Given the description of an element on the screen output the (x, y) to click on. 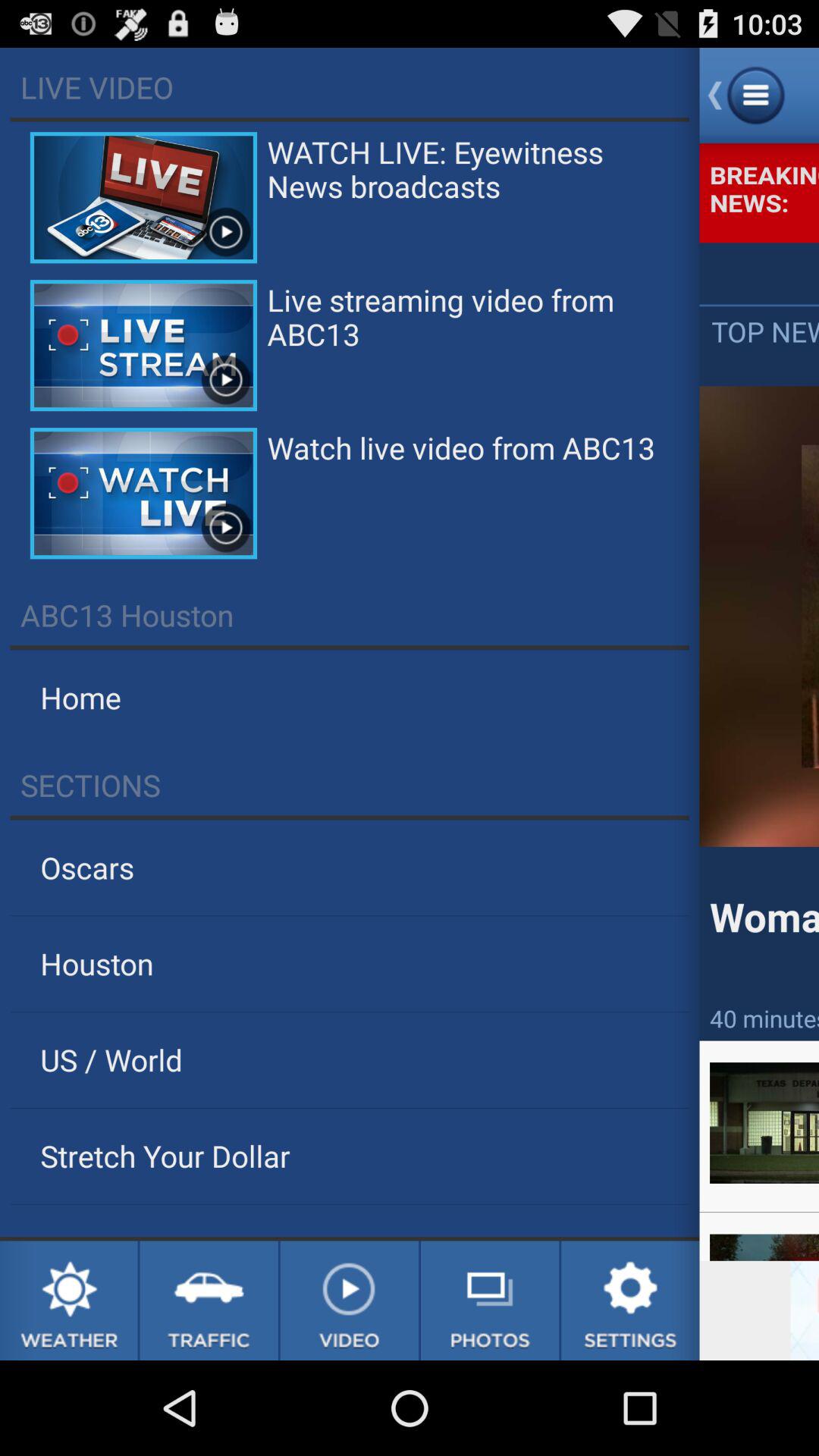
open settings tab (630, 1300)
